Given the description of an element on the screen output the (x, y) to click on. 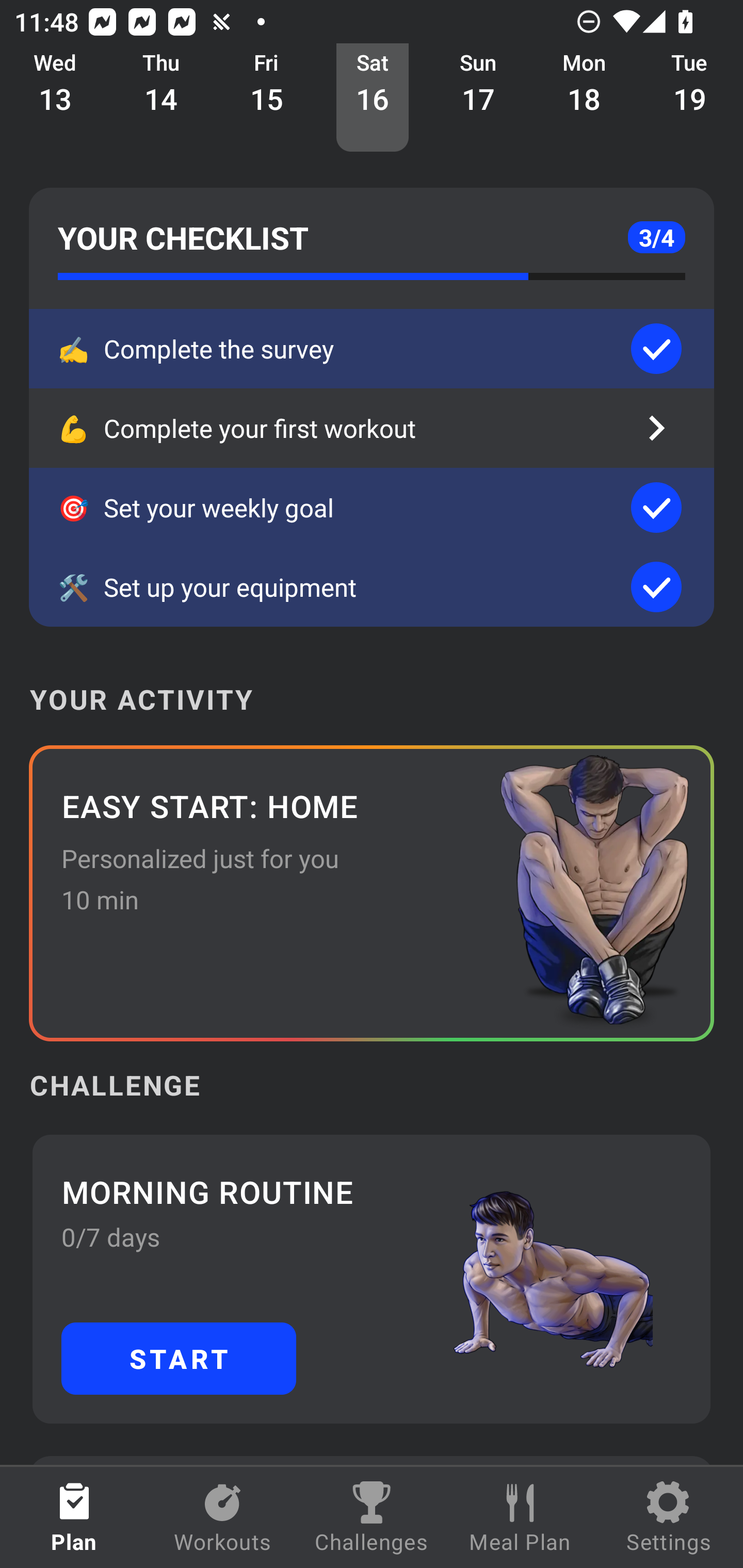
Wed 13 (55, 97)
Thu 14 (160, 97)
Fri 15 (266, 97)
Sat 16 (372, 97)
Sun 17 (478, 97)
Mon 18 (584, 97)
Tue 19 (690, 97)
💪 Complete your first workout (371, 427)
EASY START: HOME Personalized just for you 10 min (371, 892)
MORNING ROUTINE 0/7 days START (371, 1278)
START (178, 1357)
 Workouts  (222, 1517)
 Challenges  (371, 1517)
 Meal Plan  (519, 1517)
 Settings  (668, 1517)
